Given the description of an element on the screen output the (x, y) to click on. 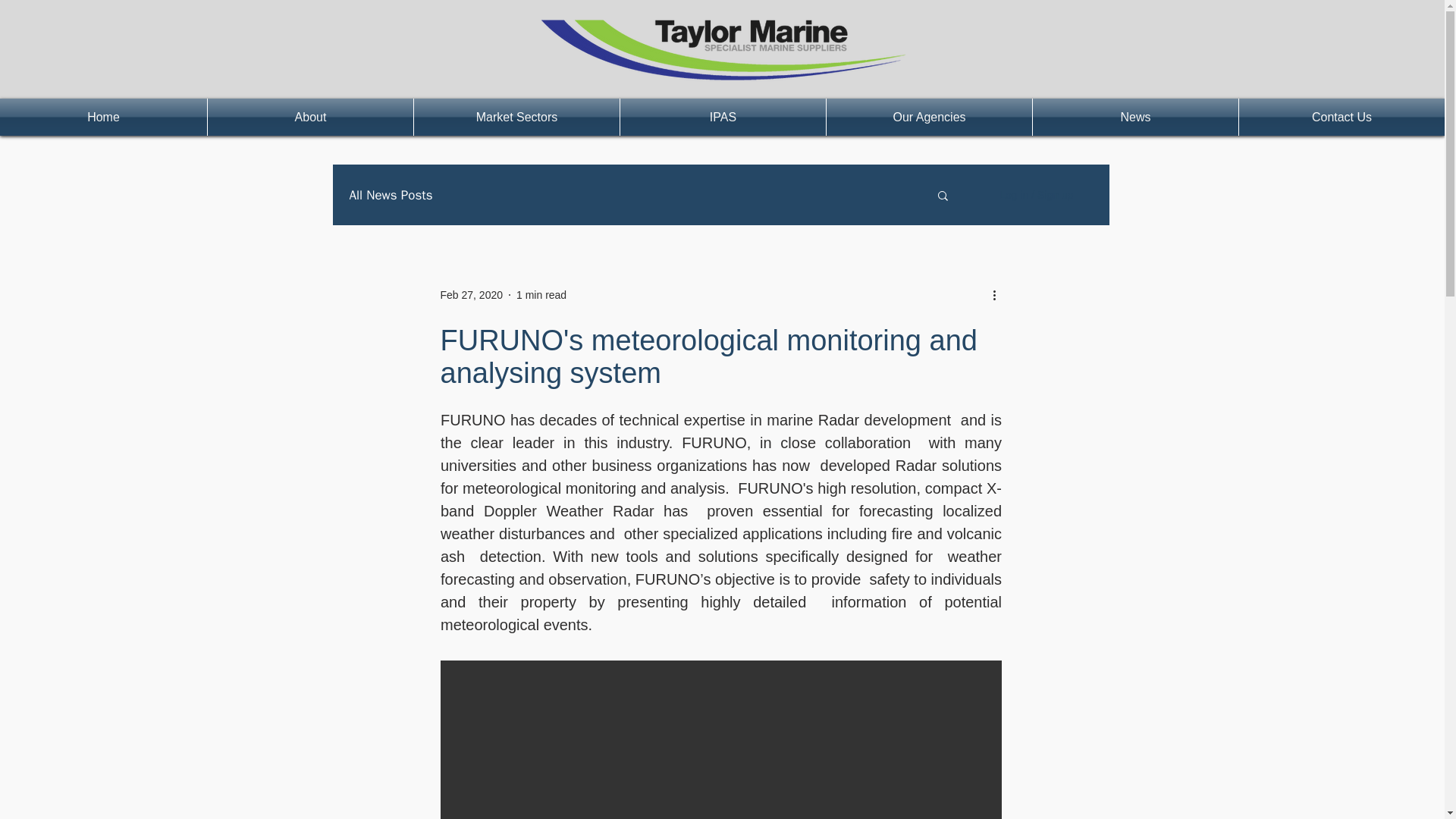
Home (103, 116)
Market Sectors (516, 116)
News (1135, 116)
Our Agencies (929, 116)
1 min read (541, 294)
About (310, 116)
IPAS (722, 116)
All News Posts (390, 194)
Feb 27, 2020 (470, 294)
